Given the description of an element on the screen output the (x, y) to click on. 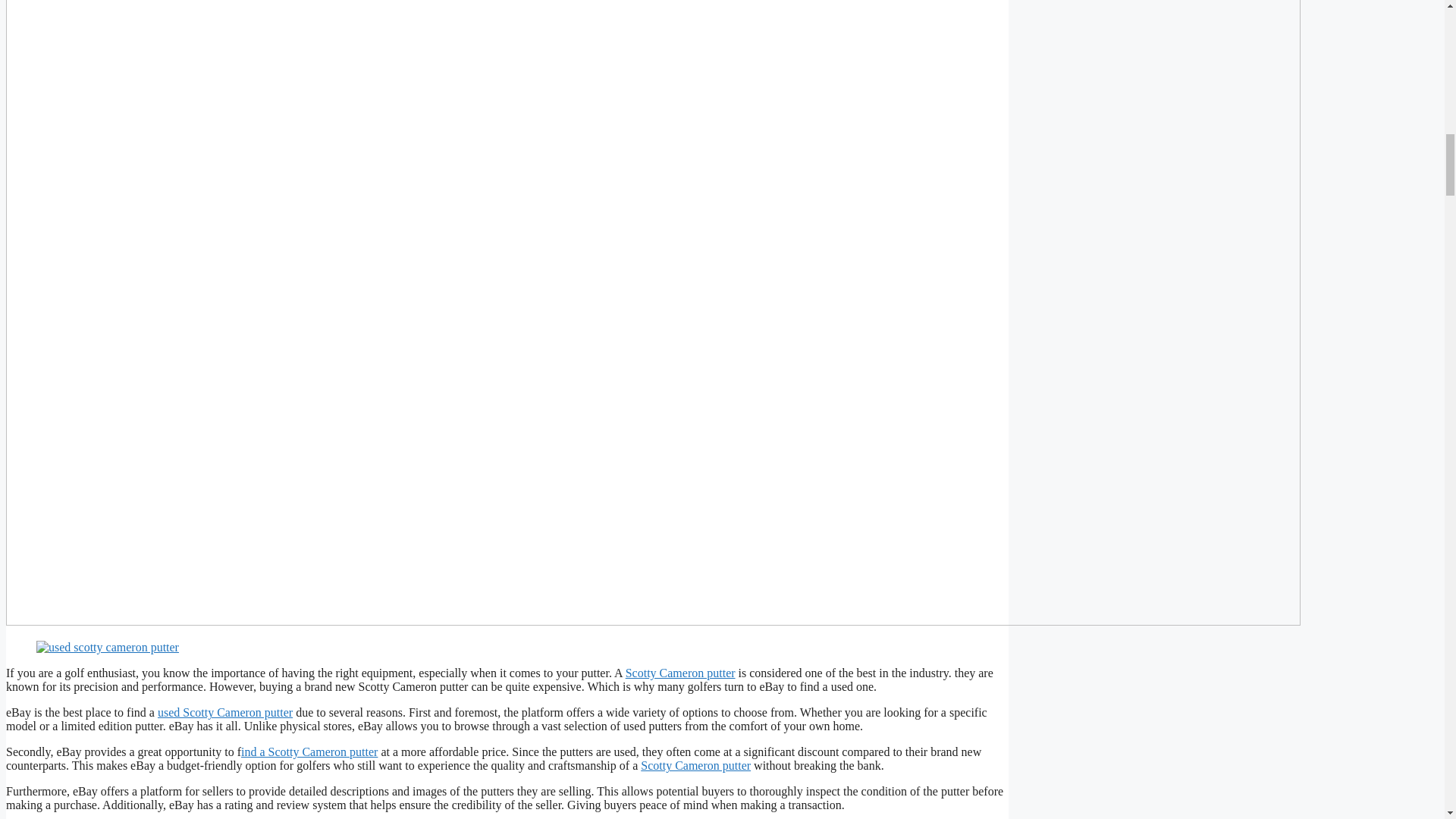
Scotty Cameron putter (695, 765)
ind a Scotty Cameron putter (309, 751)
Scotty Cameron putter (680, 672)
used Scotty Cameron putter (224, 712)
